Given the description of an element on the screen output the (x, y) to click on. 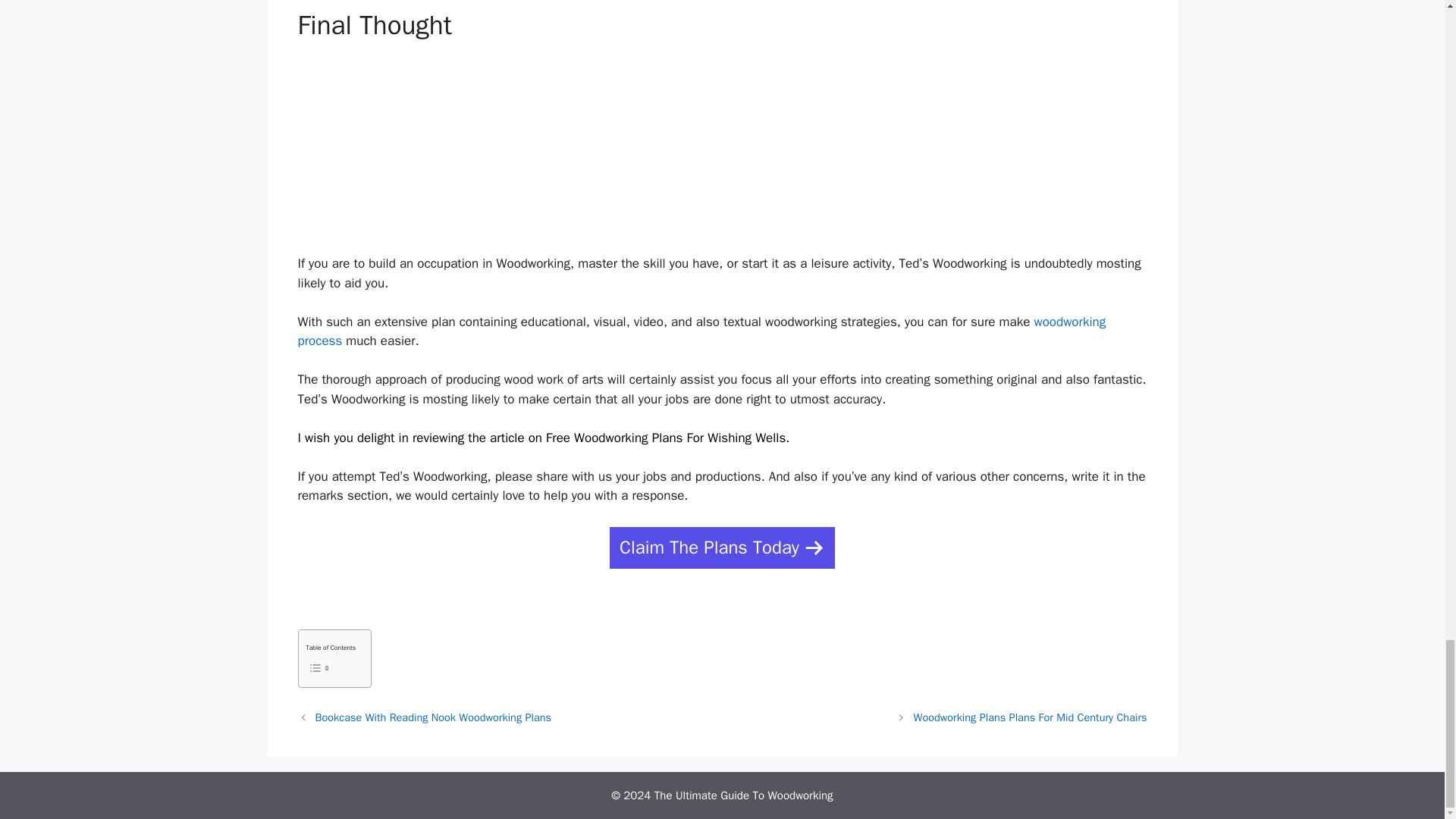
woodworking process (701, 331)
Bookcase With Reading Nook Woodworking Plans (433, 716)
Claim The Plans Today (722, 547)
Woodworking Plans Plans For Mid Century Chairs (1030, 716)
